Given the description of an element on the screen output the (x, y) to click on. 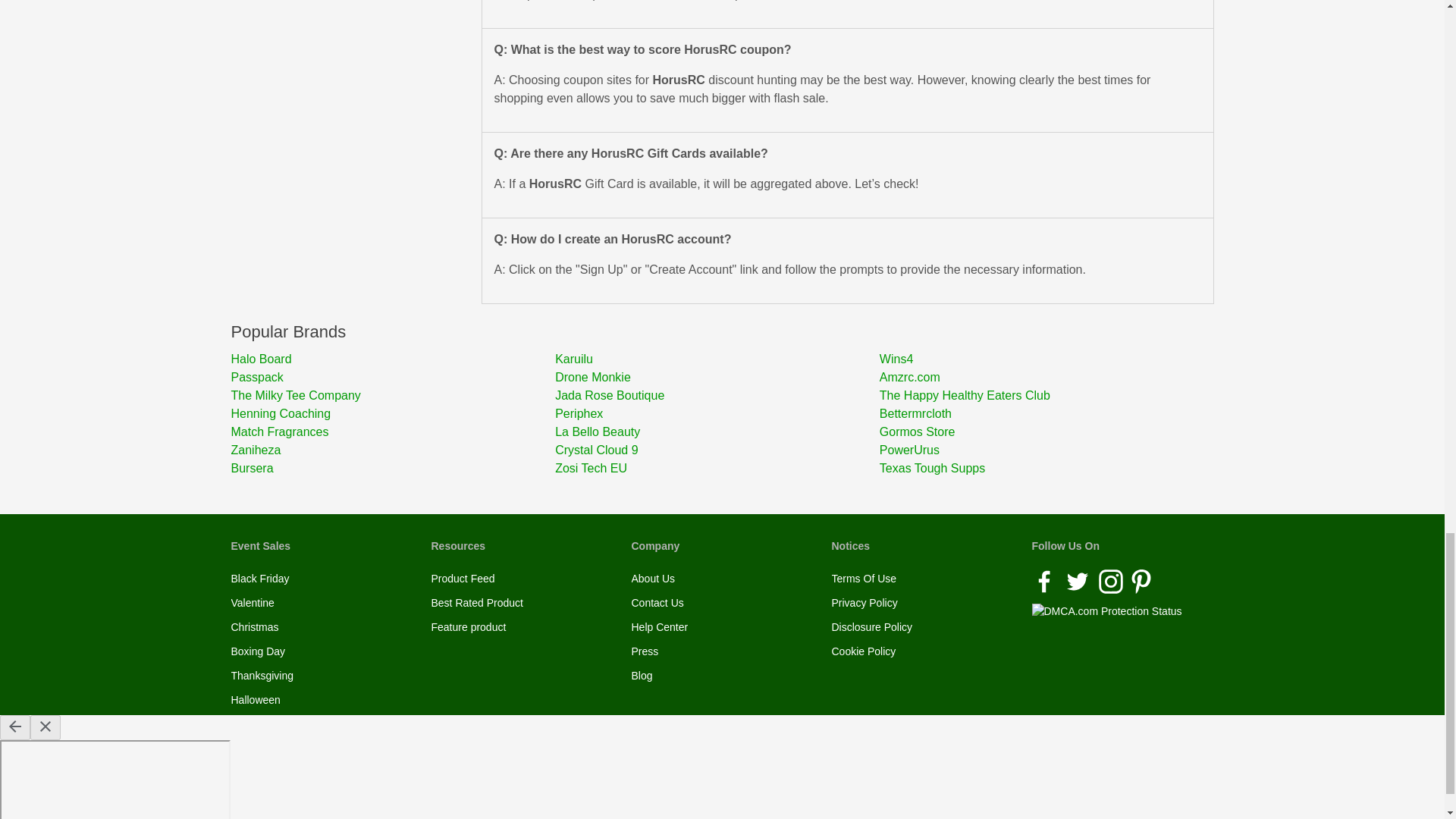
Amzrc.com (1041, 377)
The Happy Healthy Eaters Club (1041, 395)
Halo Board (392, 359)
Henning Coaching (392, 413)
Zaniheza (392, 450)
Bettermrcloth (1041, 413)
Zosi Tech EU (716, 468)
Bursera (392, 468)
PowerUrus (1041, 450)
Texas Tough Supps (1041, 468)
Passpack (392, 377)
Crystal Cloud 9 (716, 450)
DMCA.com Protection Status (1105, 610)
Karuilu (716, 359)
La Bello Beauty (716, 432)
